Given the description of an element on the screen output the (x, y) to click on. 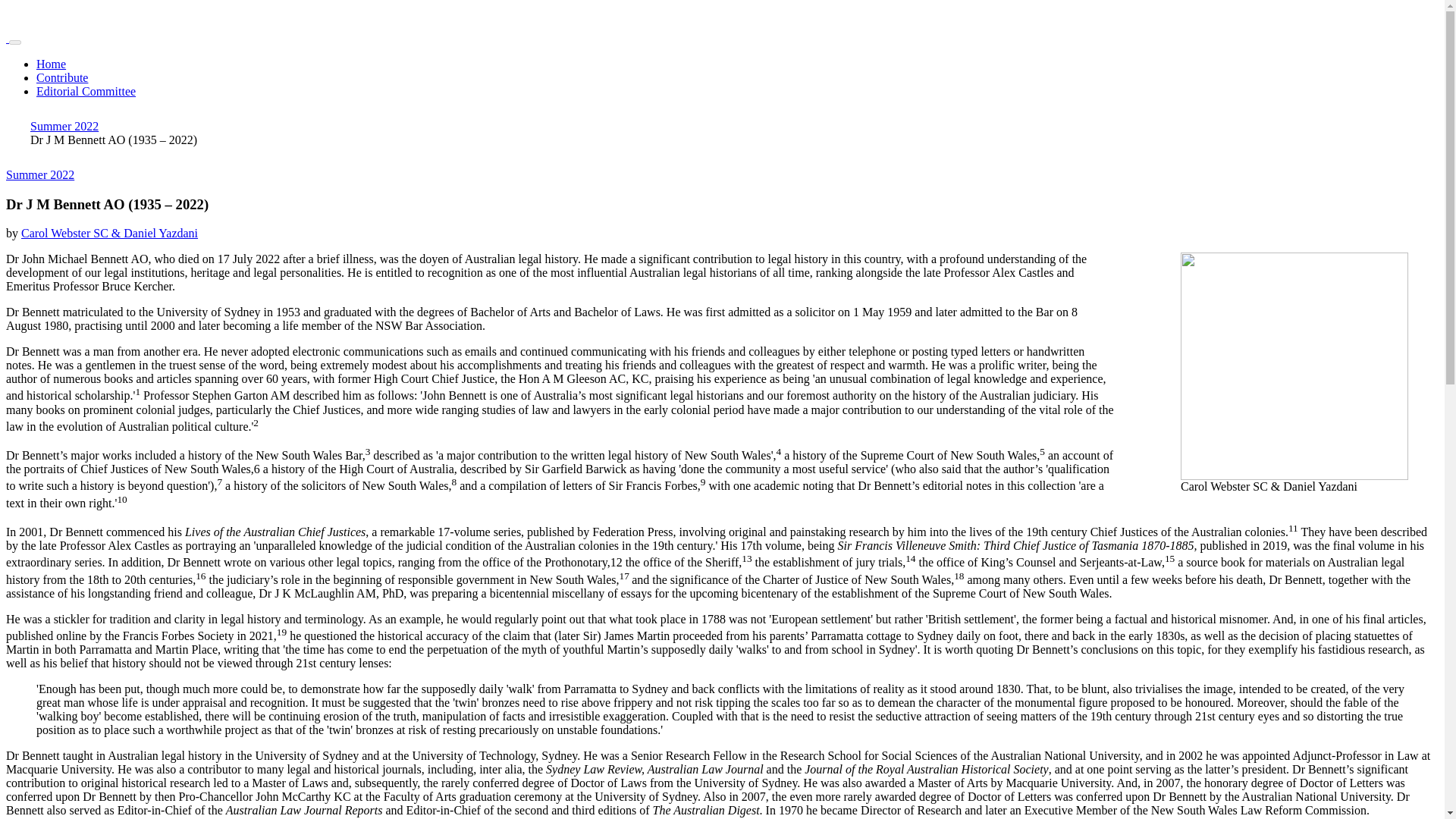
Summer 2022 (64, 125)
Contribute (61, 77)
Summer 2022 (39, 174)
Editorial Committee (85, 91)
Home (50, 63)
Home (50, 63)
Editorial Committee (85, 91)
Lifestyle (39, 174)
Contribute (61, 77)
